Given the description of an element on the screen output the (x, y) to click on. 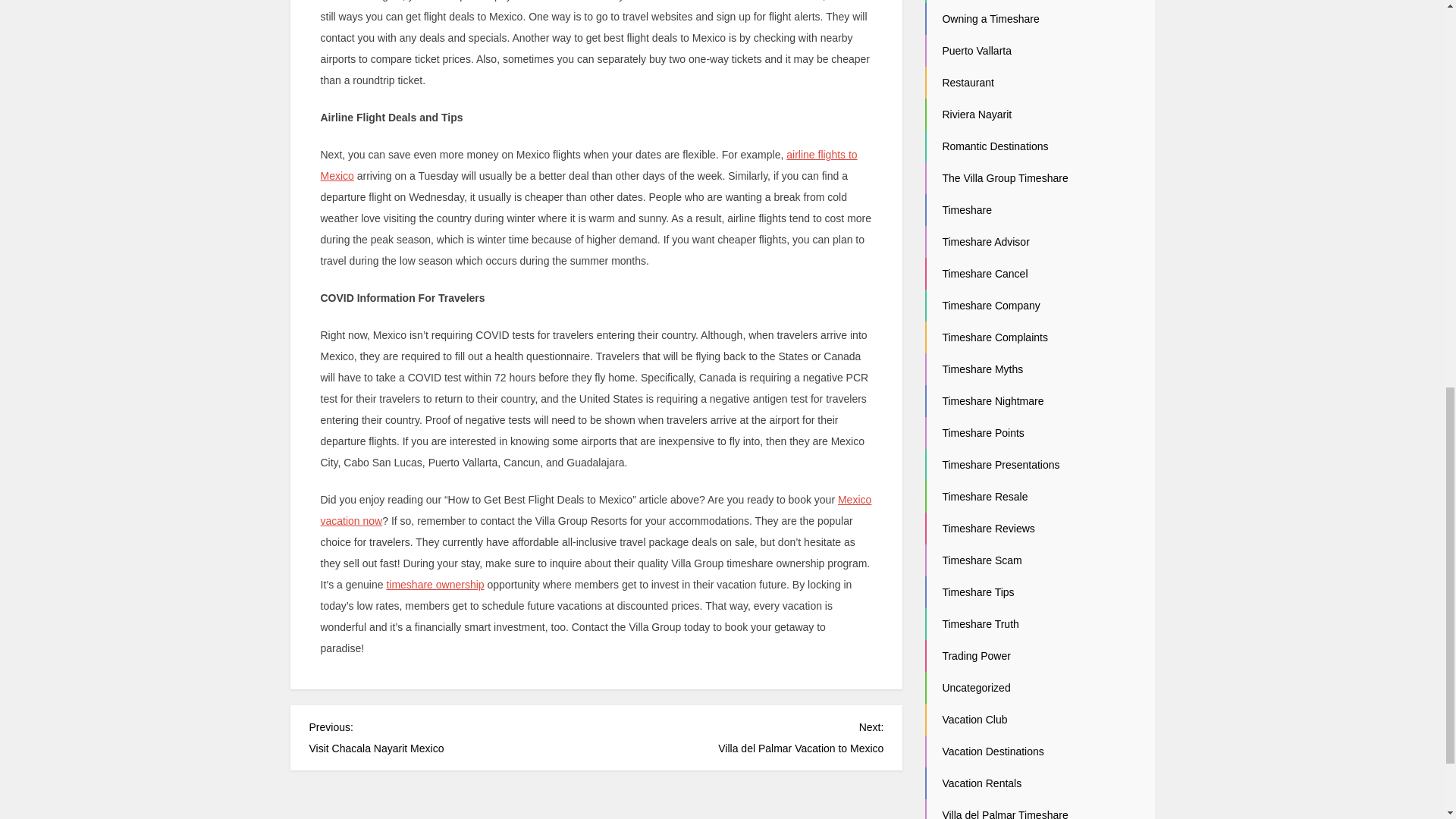
Timeshare Advisor (985, 241)
timeshare ownership (434, 584)
Puerto Vallarta (976, 50)
Restaurant (967, 82)
airline flights to Mexico (588, 164)
The Villa Group Timeshare (1004, 177)
Romantic Destinations (995, 146)
Timeshare (739, 735)
Timeshare Cancel (966, 209)
